Given the description of an element on the screen output the (x, y) to click on. 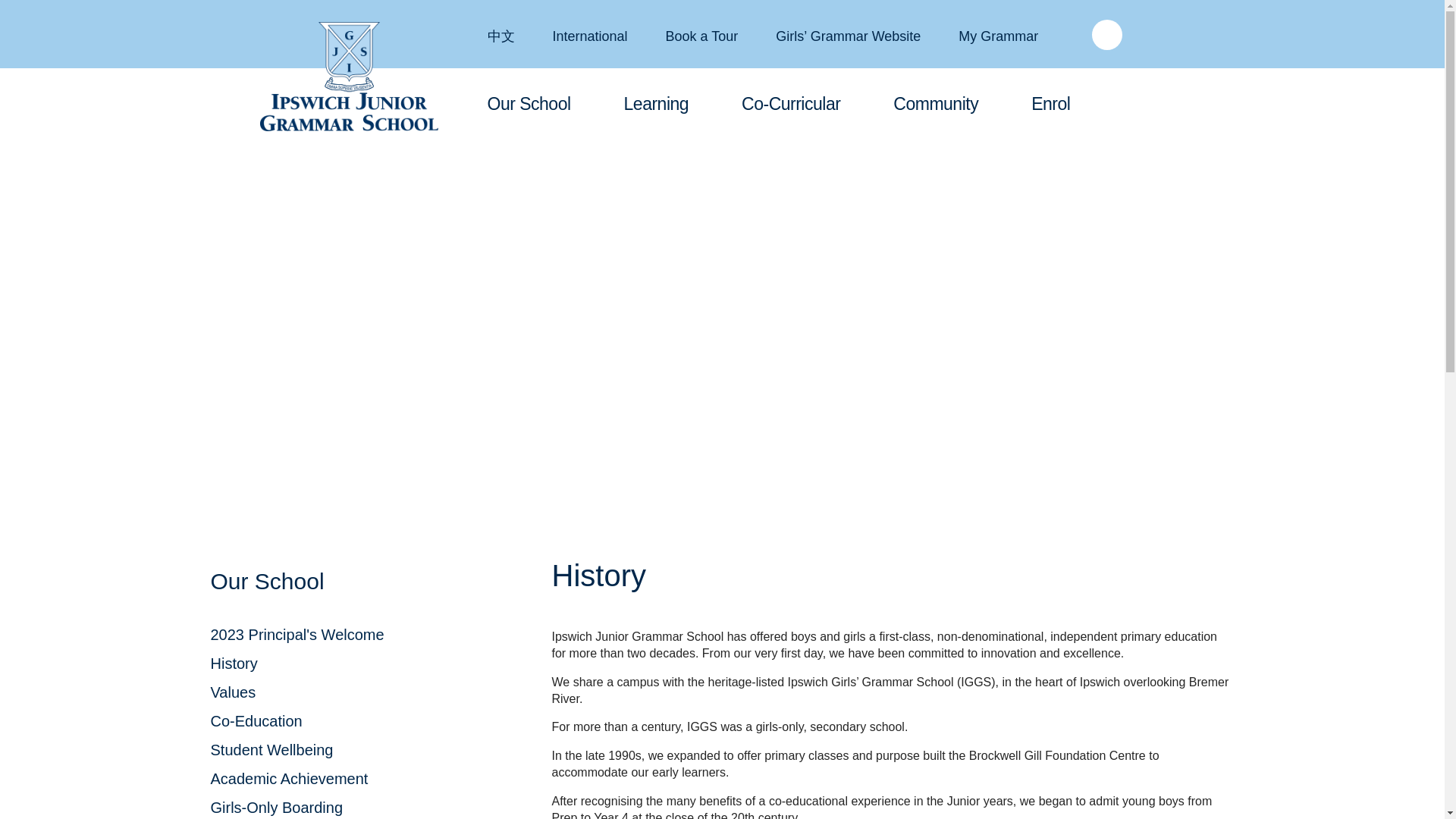
My Grammar (998, 36)
Our School (528, 105)
Community (935, 105)
Book a Tour (701, 36)
Enrol (1050, 105)
Learning (656, 105)
International (589, 36)
Co-Curricular (790, 105)
